Given the description of an element on the screen output the (x, y) to click on. 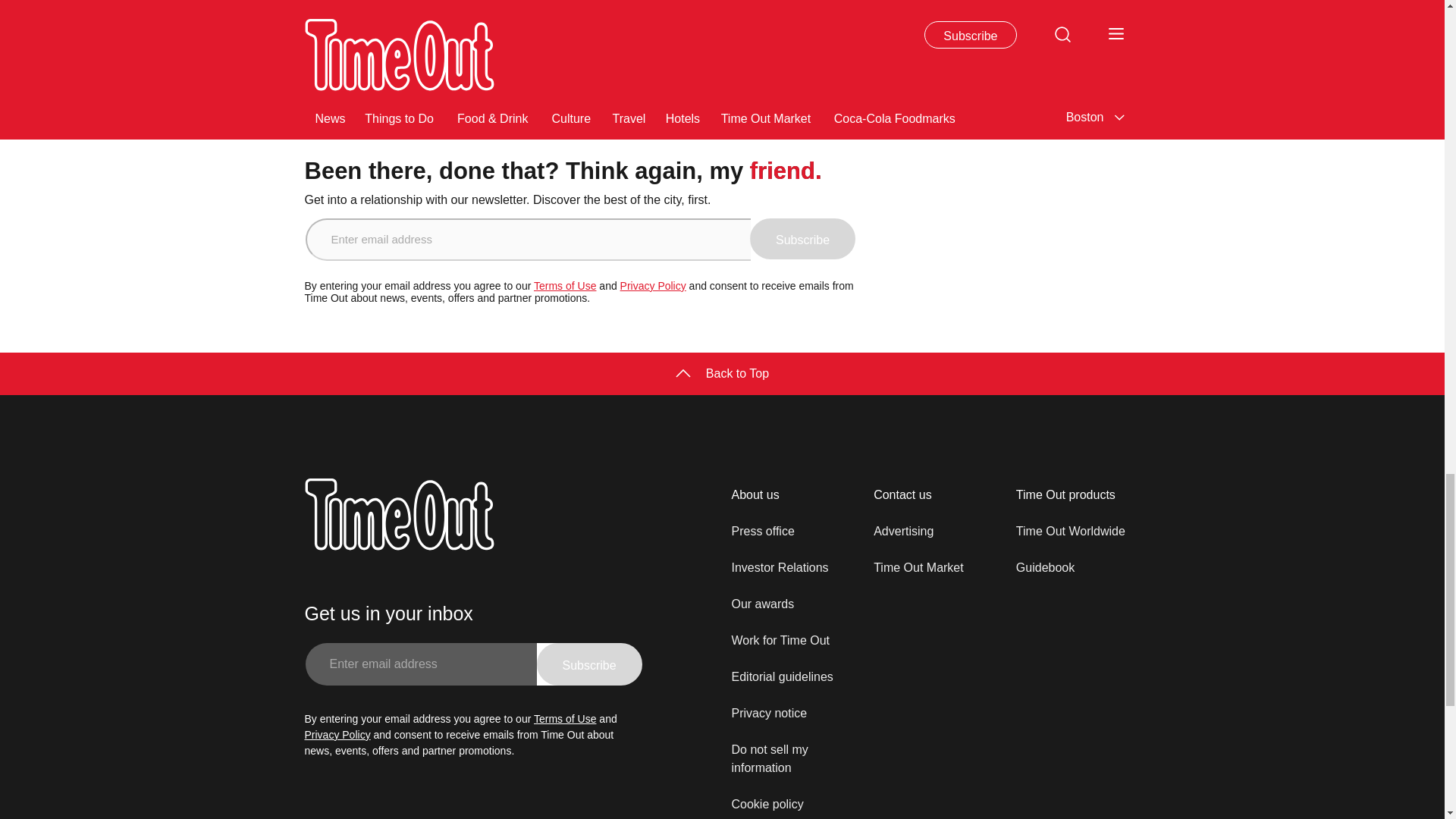
Subscribe (589, 663)
Subscribe (802, 238)
